Given the description of an element on the screen output the (x, y) to click on. 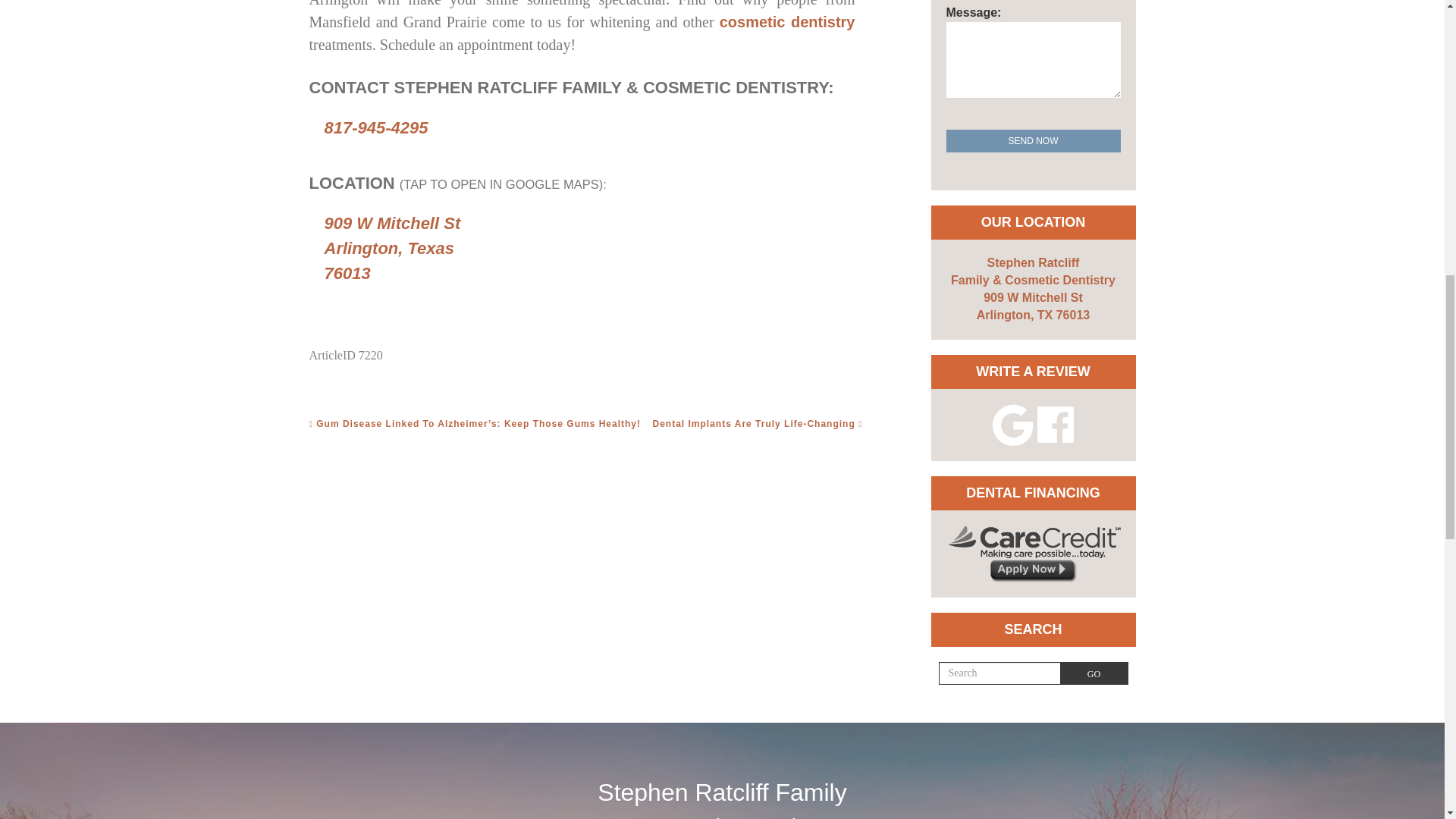
Search for: (1000, 672)
Send Now (1033, 140)
